Given the description of an element on the screen output the (x, y) to click on. 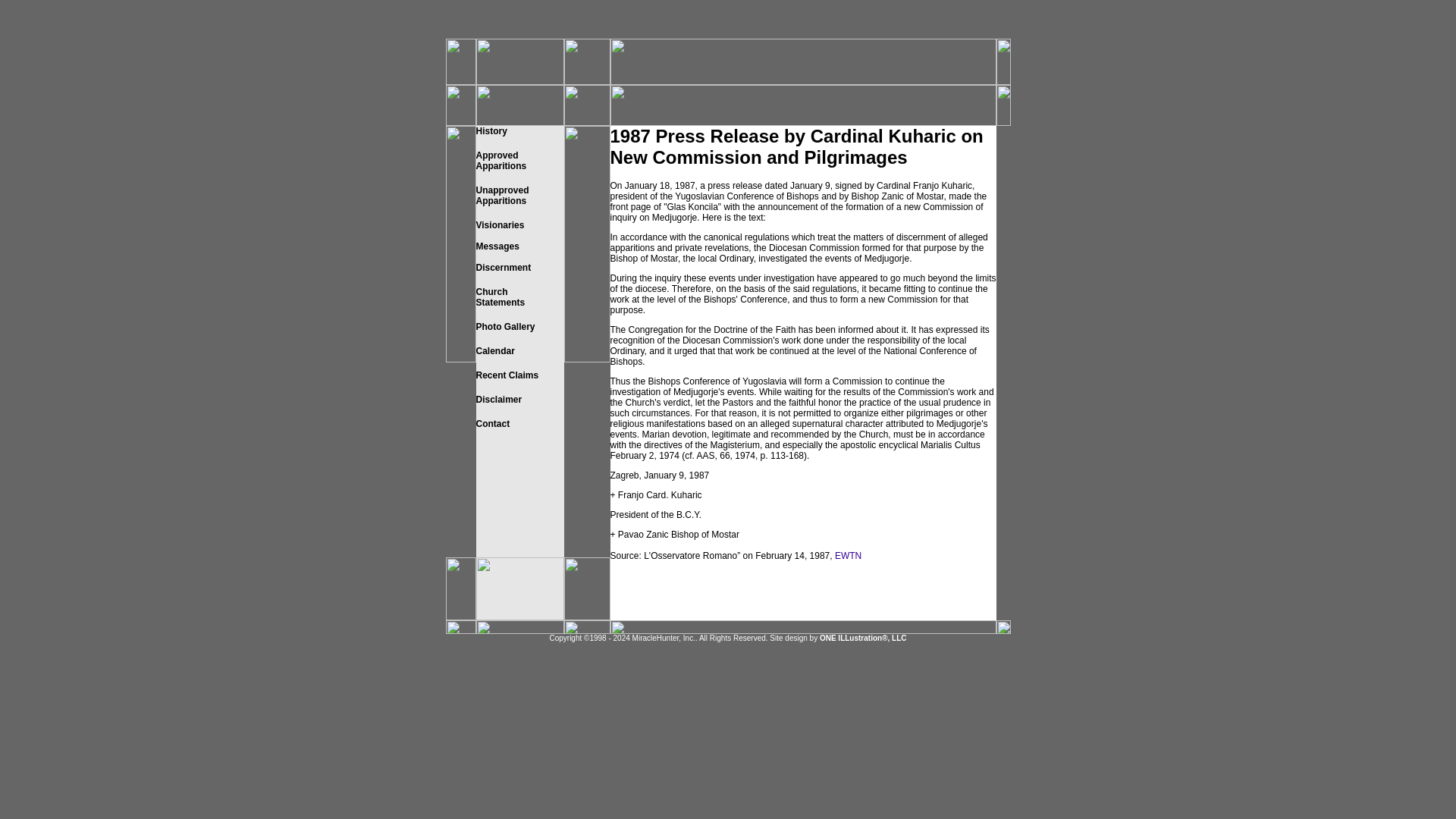
Recent Claims (507, 375)
History (491, 131)
EWTN (847, 555)
Disclaimer (499, 398)
Discernment (503, 278)
Visionaries (502, 195)
Photo Gallery (500, 225)
Contact (505, 326)
